Given the description of an element on the screen output the (x, y) to click on. 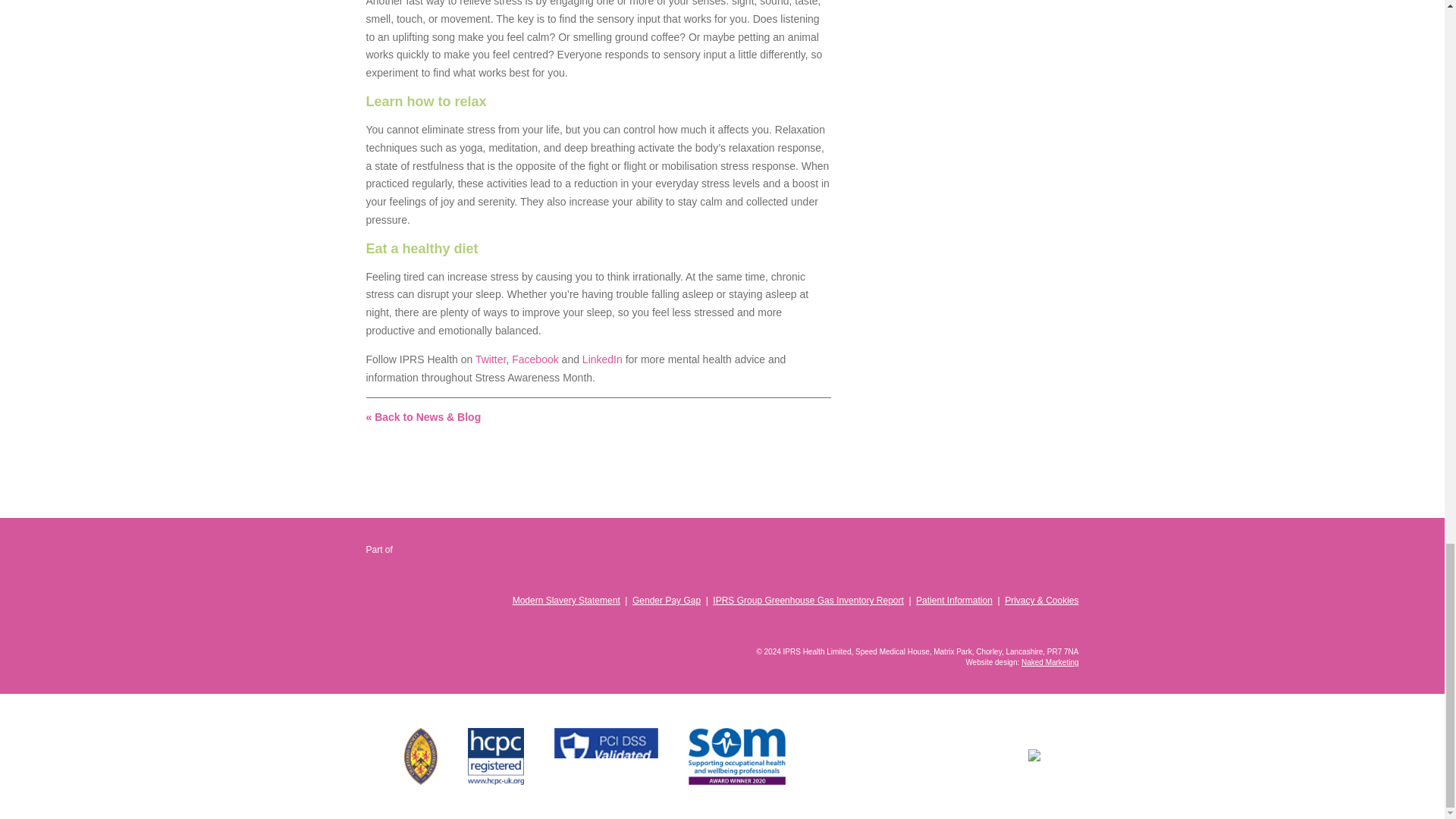
Twitter (490, 358)
Facebook (1043, 626)
Modern Slavery Statement (566, 600)
Twitter (1067, 626)
LinkedIn (602, 358)
Patient Information (953, 600)
Naked Marketing (1050, 662)
IPRS Group Greenhouse Gas Inventory Report (807, 600)
LinkedIn (1017, 626)
IPRS Group (447, 569)
Gender Pay Gap (665, 600)
Facebook (534, 358)
